Given the description of an element on the screen output the (x, y) to click on. 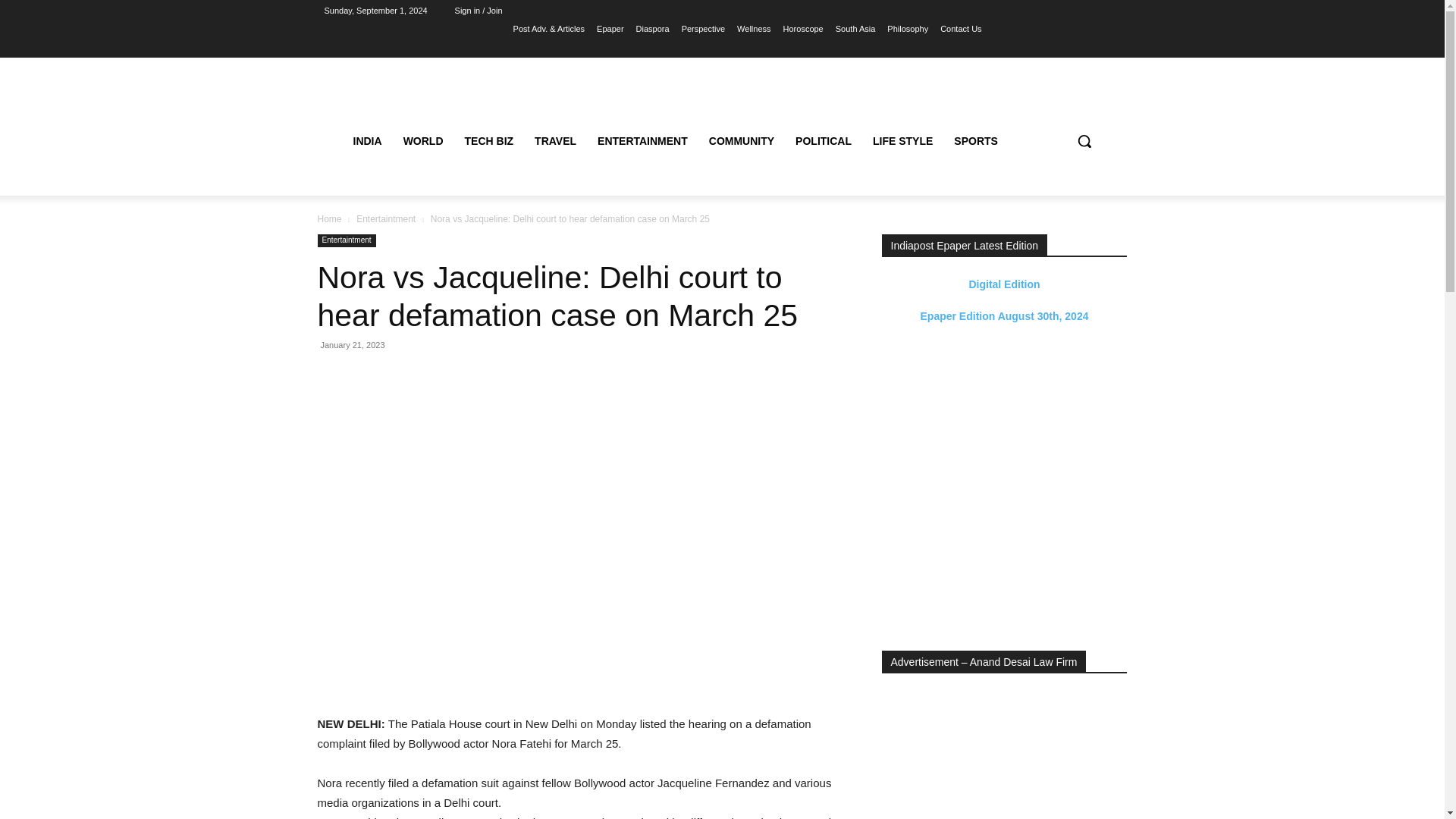
Epaper (609, 28)
ENTERTAINMENT (642, 140)
Entertaintment (346, 240)
WORLD (423, 140)
South Asia (855, 28)
SPORTS (976, 140)
Home (328, 218)
Contact Us (960, 28)
INDIA (367, 140)
Perspective (703, 28)
